Given the description of an element on the screen output the (x, y) to click on. 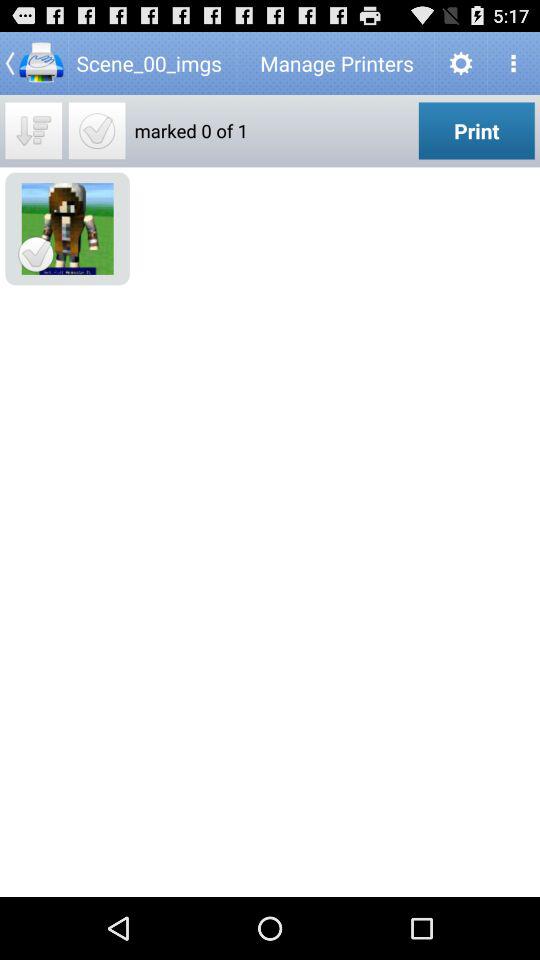
mark all (33, 130)
